Given the description of an element on the screen output the (x, y) to click on. 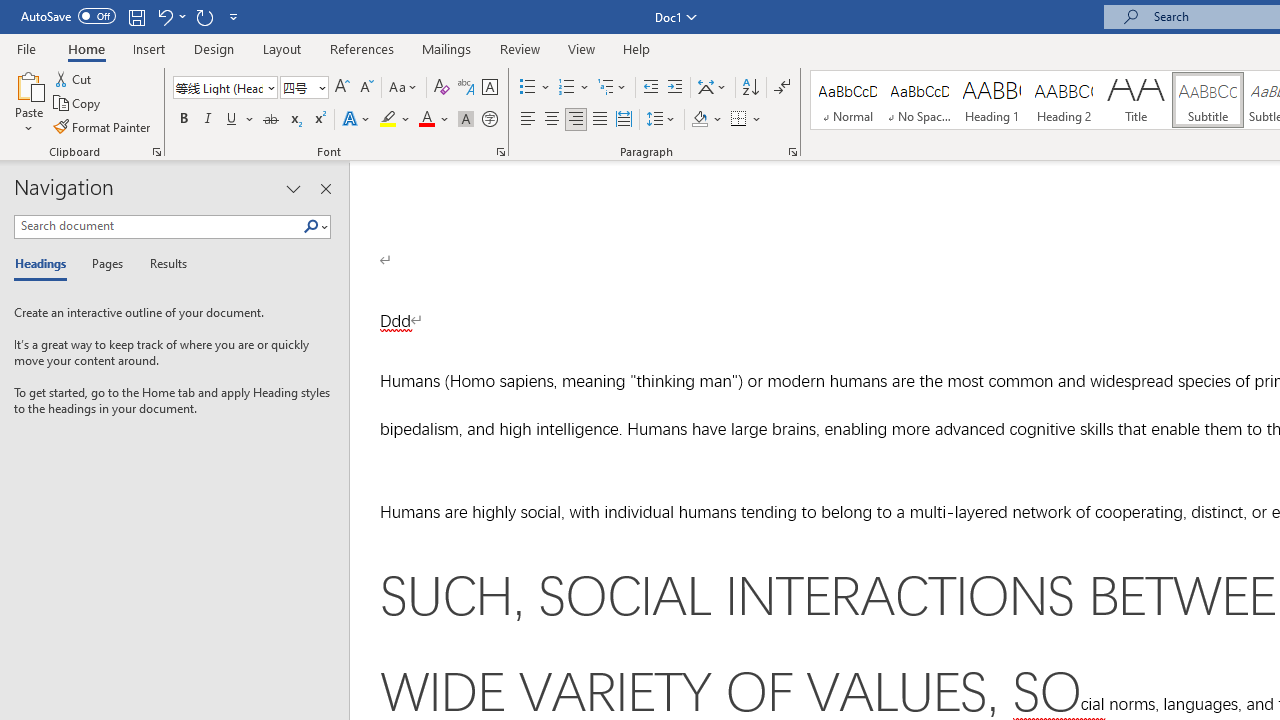
Close pane (325, 188)
Subscript (294, 119)
Line and Paragraph Spacing (661, 119)
Strikethrough (270, 119)
Multilevel List (613, 87)
Align Left (527, 119)
Title (1135, 100)
Font... (500, 151)
Mailings (447, 48)
Center (552, 119)
